Given the description of an element on the screen output the (x, y) to click on. 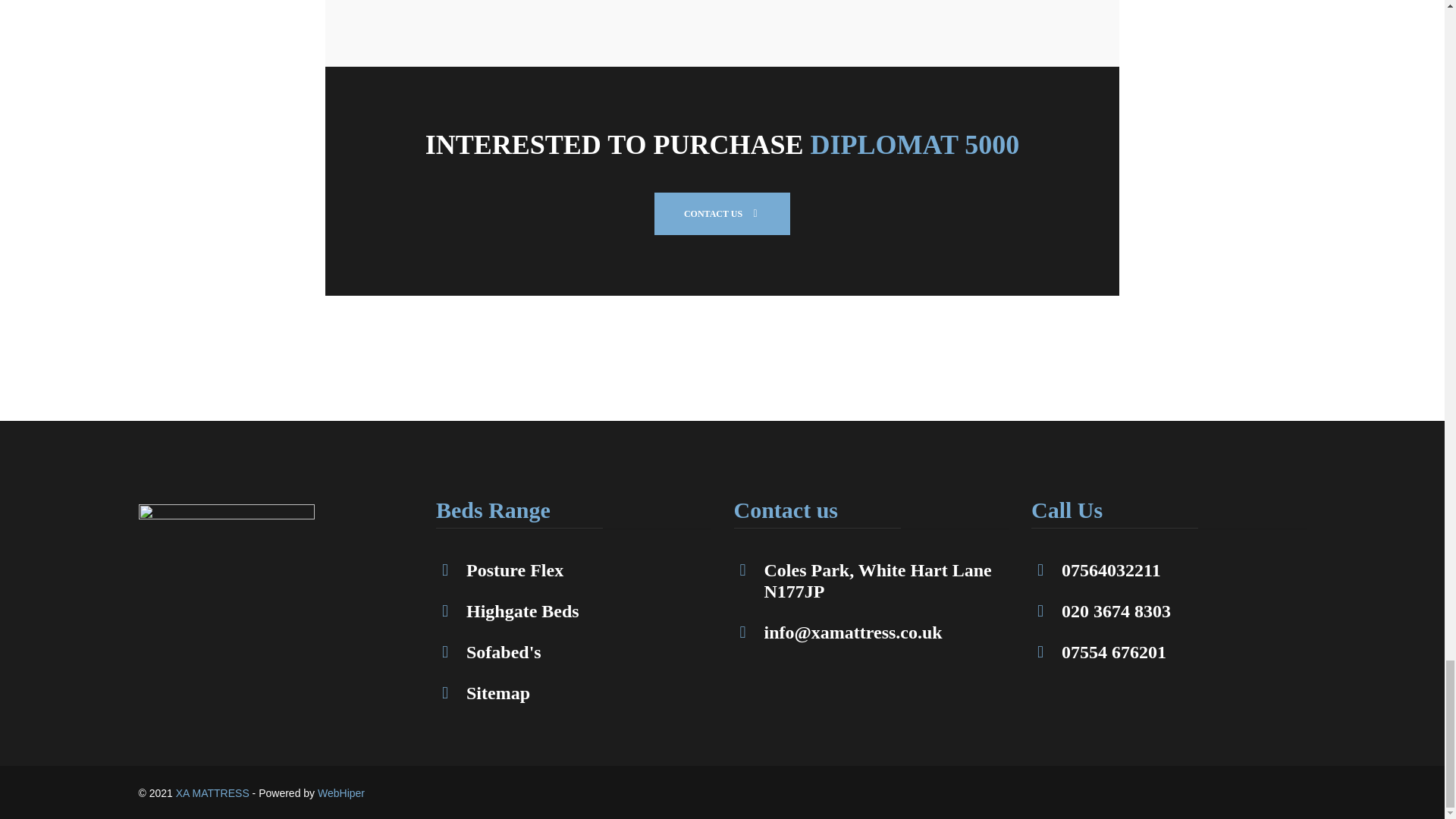
07564032211 (1110, 572)
07554 676201 (1113, 654)
Highgate Beds (522, 613)
Sitemap (497, 695)
020 3674 8303 (1115, 613)
CONTACT US (721, 213)
Sofabed's (503, 654)
XA MATTRESS (877, 582)
Posture Flex (212, 793)
WebHiper (514, 572)
